Given the description of an element on the screen output the (x, y) to click on. 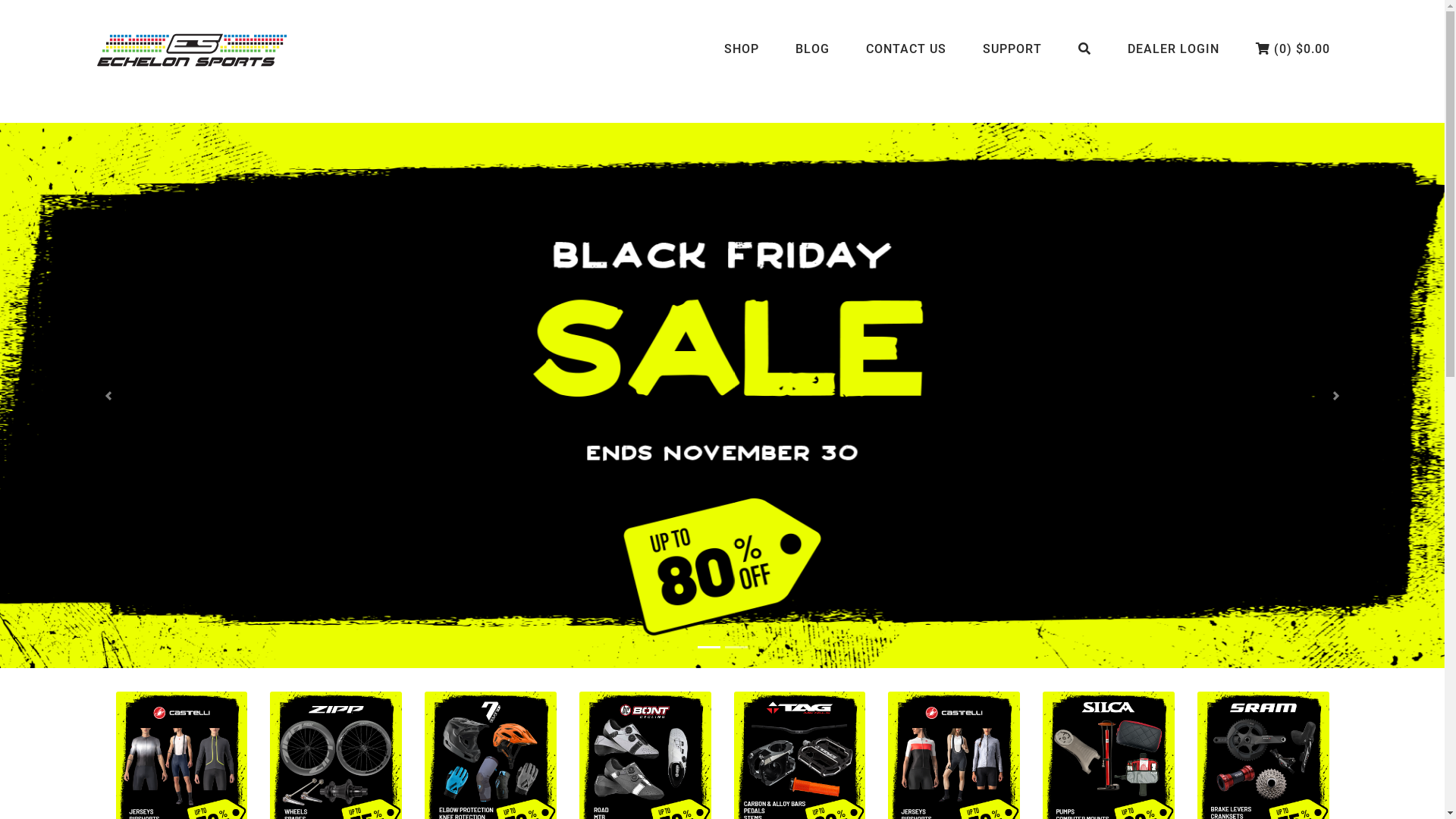
(0) $0.00 Element type: text (1292, 49)
Next Element type: text (1335, 395)
DEALER LOGIN Element type: text (1172, 49)
CONTACT US Element type: text (905, 49)
Previous Element type: text (108, 395)
SUPPORT Element type: text (1012, 49)
BLOG Element type: text (811, 49)
SHOP Element type: text (740, 49)
Echelon Sports Pty Ltd Home Element type: hover (191, 49)
